Given the description of an element on the screen output the (x, y) to click on. 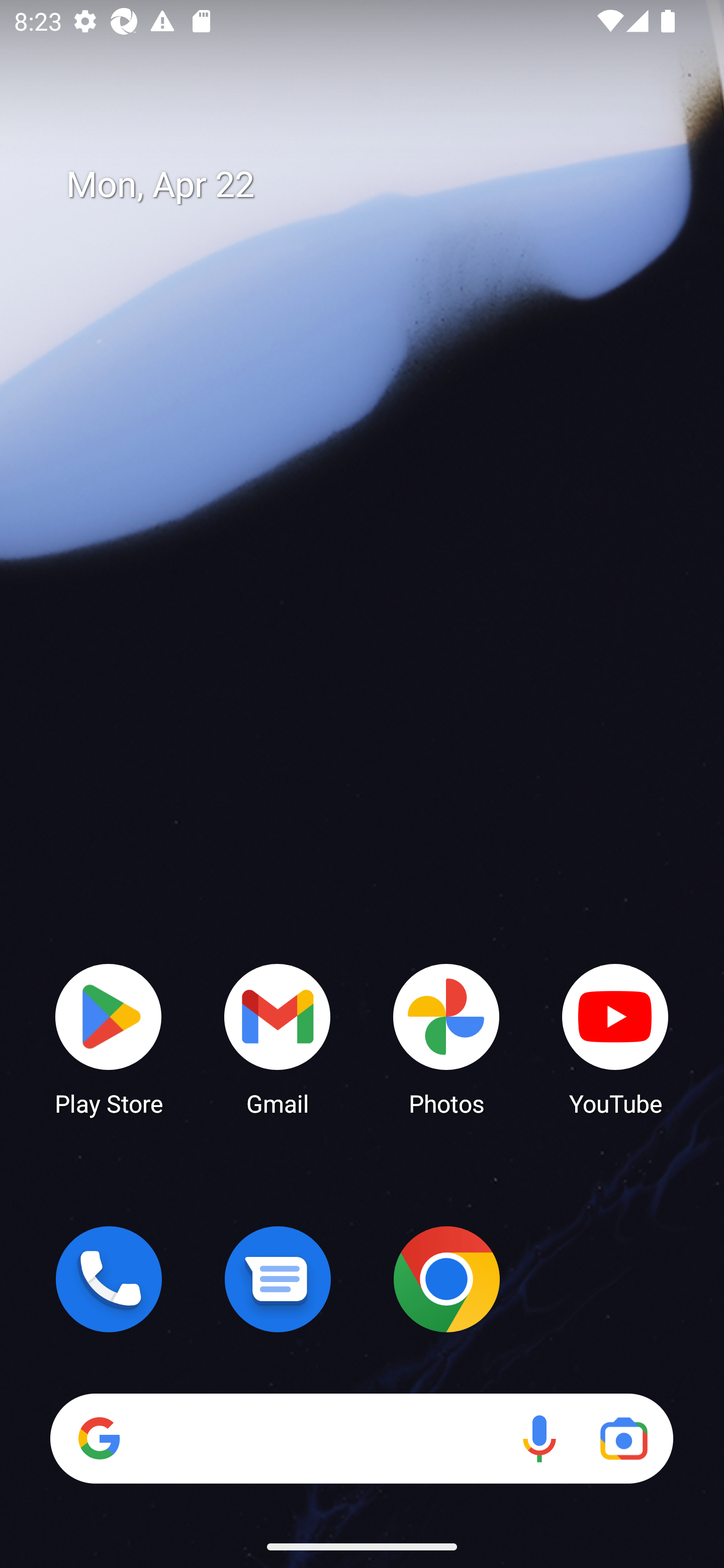
Mon, Apr 22 (375, 184)
Play Store (108, 1038)
Gmail (277, 1038)
Photos (445, 1038)
YouTube (615, 1038)
Phone (108, 1279)
Messages (277, 1279)
Chrome (446, 1279)
Search Voice search Google Lens (361, 1438)
Voice search (539, 1438)
Google Lens (623, 1438)
